Given the description of an element on the screen output the (x, y) to click on. 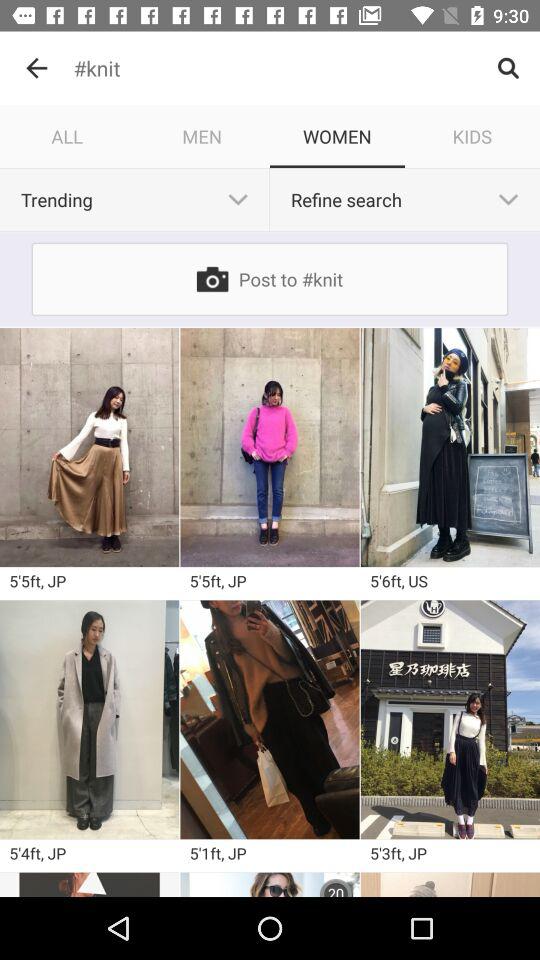
turn on the women (337, 136)
